Given the description of an element on the screen output the (x, y) to click on. 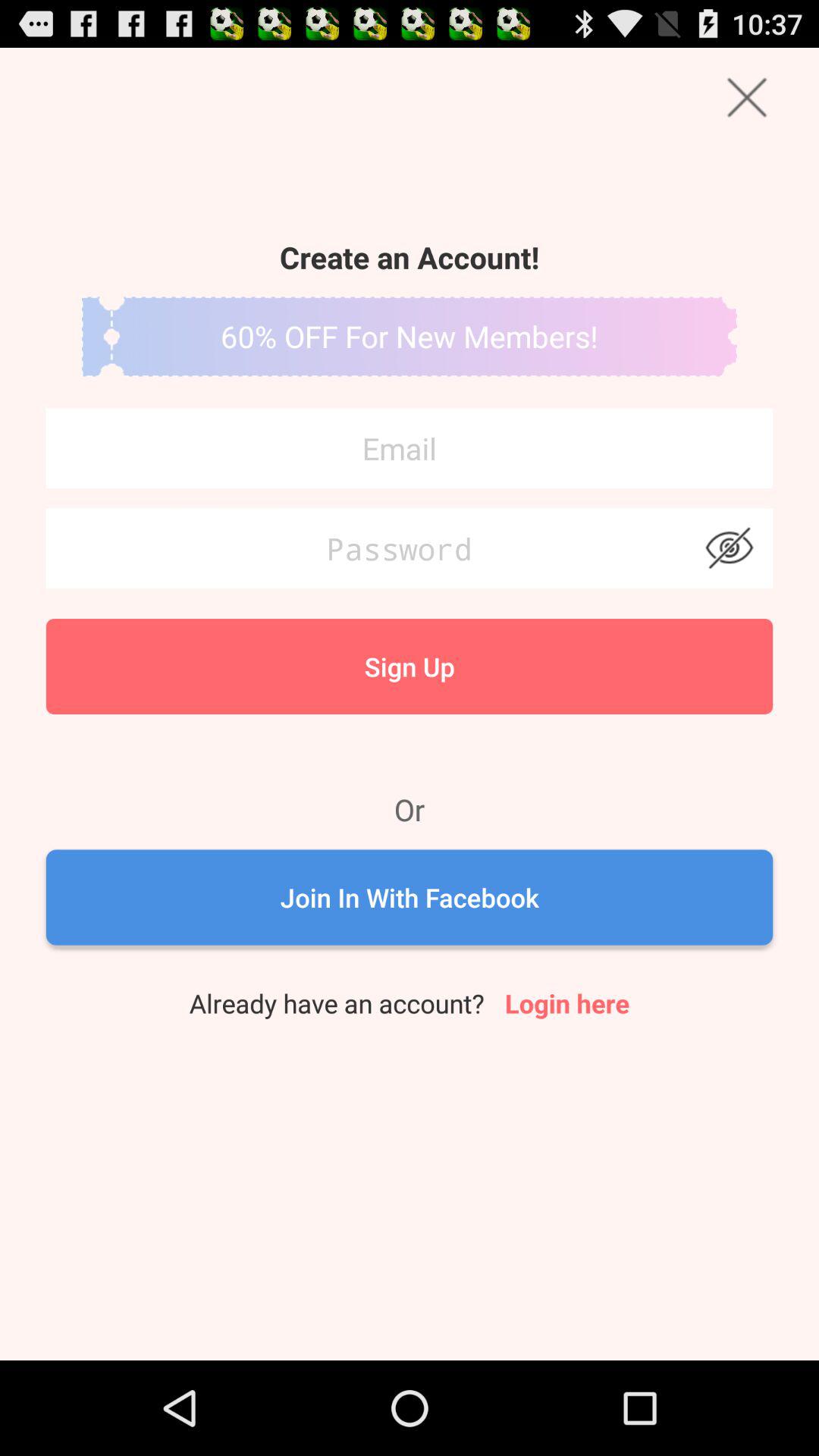
close page (746, 97)
